Given the description of an element on the screen output the (x, y) to click on. 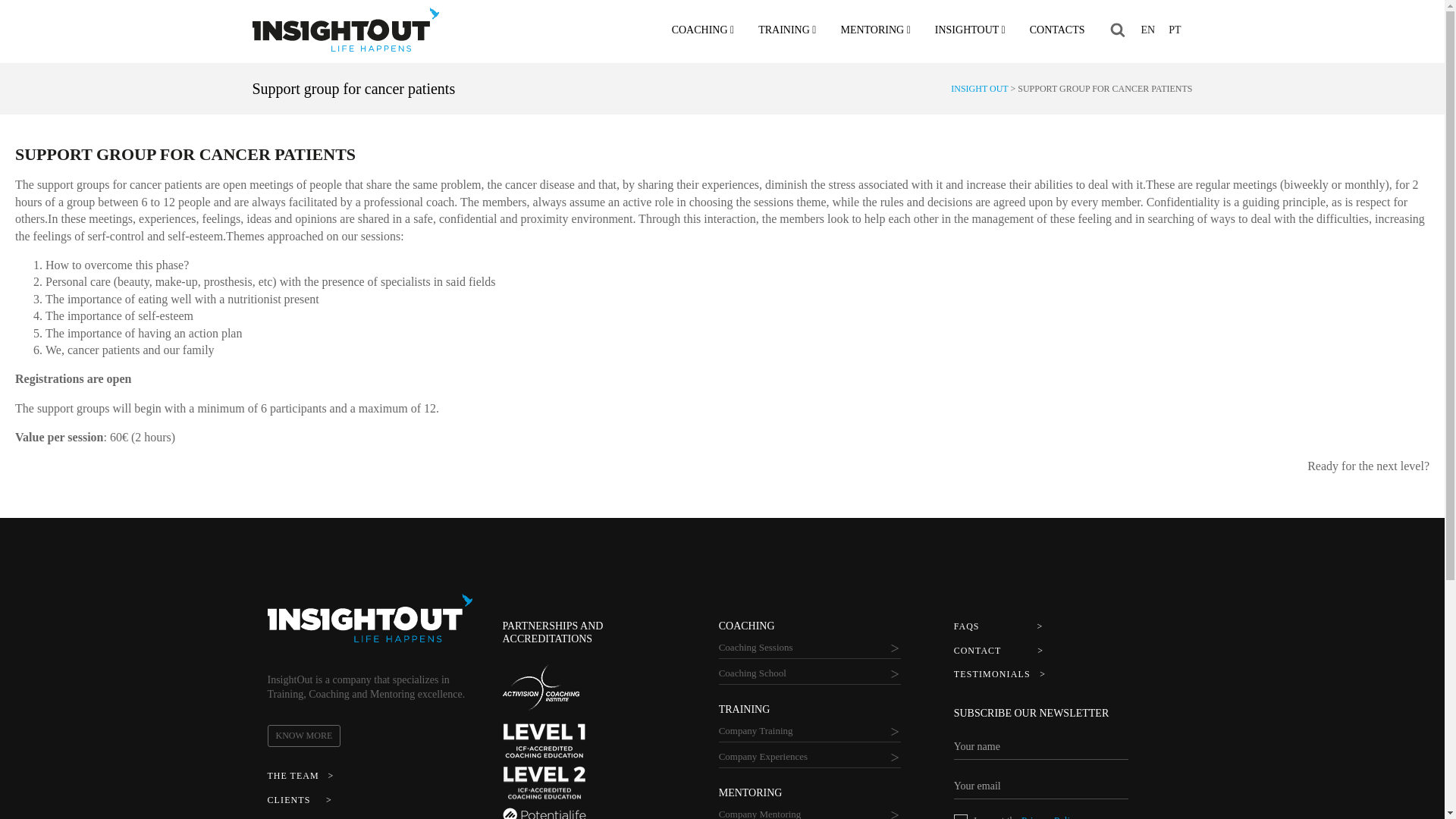
Privacy Policy (960, 816)
INSIGHTOUT (970, 36)
COACHING (703, 36)
MENTORING (874, 36)
TRAINING (787, 36)
